Given the description of an element on the screen output the (x, y) to click on. 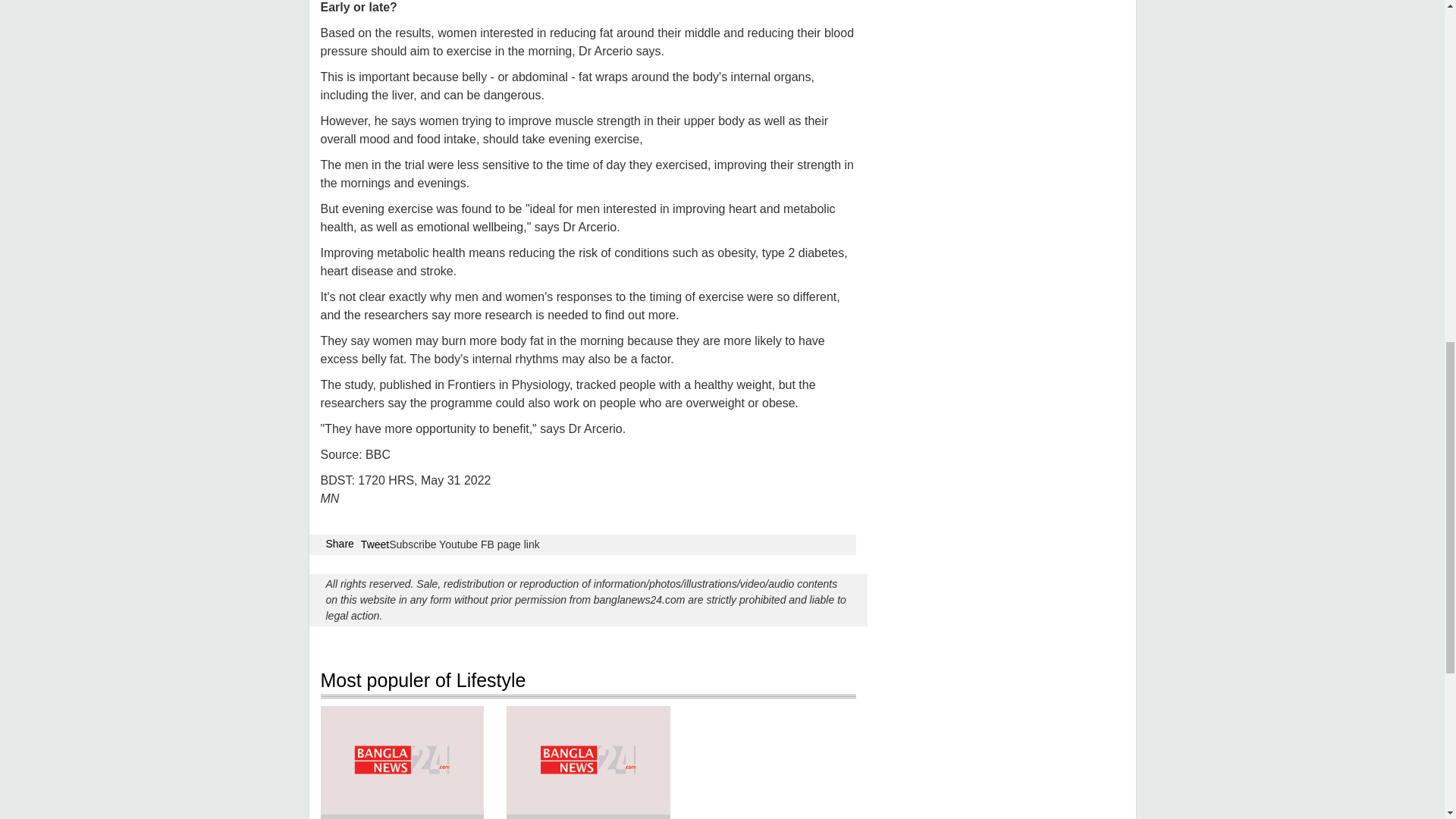
Japan's population falls for 15th year in a row (587, 816)
Share (339, 543)
How much sleep do you need according to your age: Study (401, 816)
How much sleep do you need according to your age: Study (401, 816)
Most populer of Lifestyle (588, 681)
Tweet (374, 544)
Japan's population falls for 15th year in a row (587, 816)
